Given the description of an element on the screen output the (x, y) to click on. 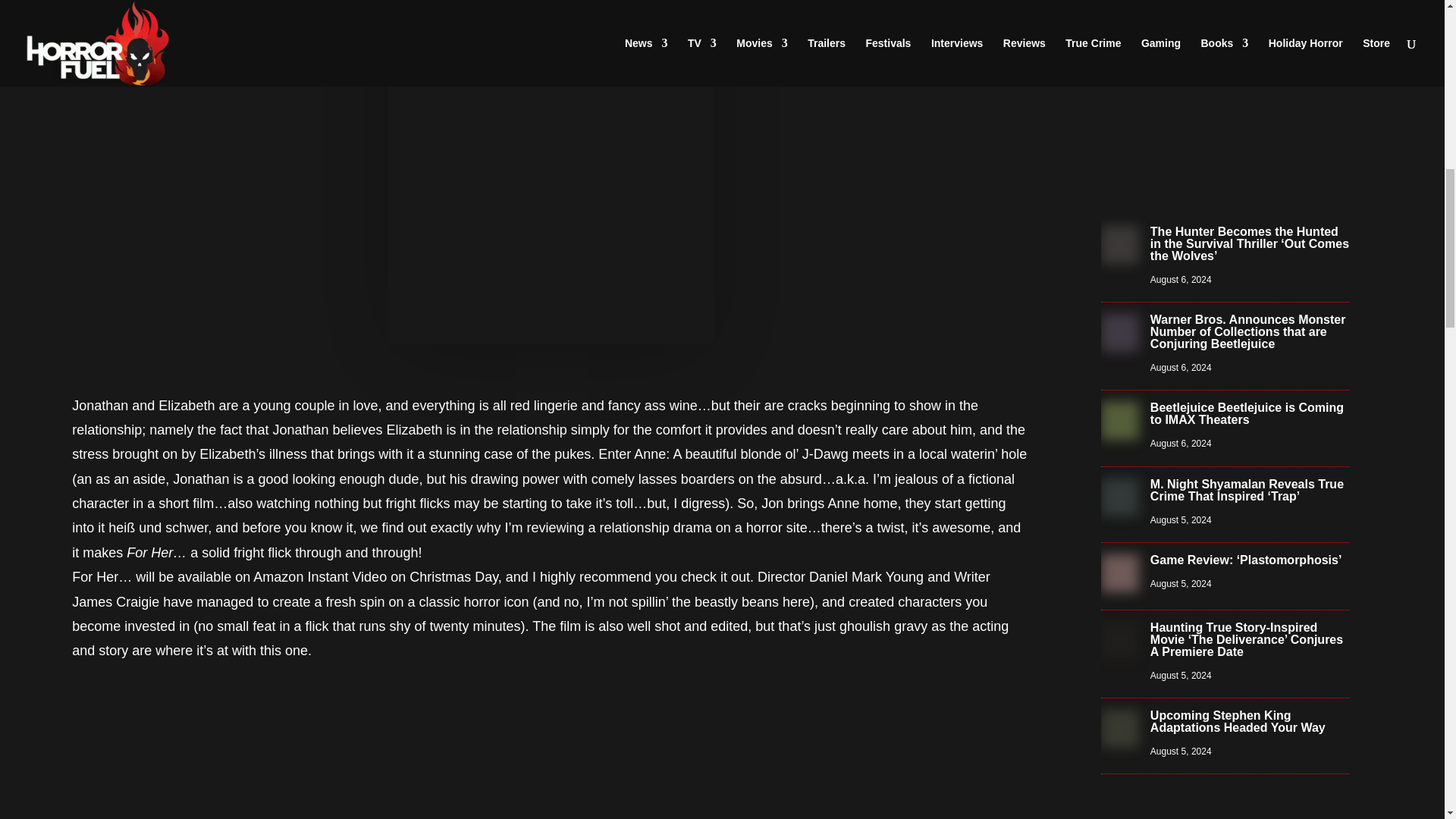
Advertisement (551, 748)
